Given the description of an element on the screen output the (x, y) to click on. 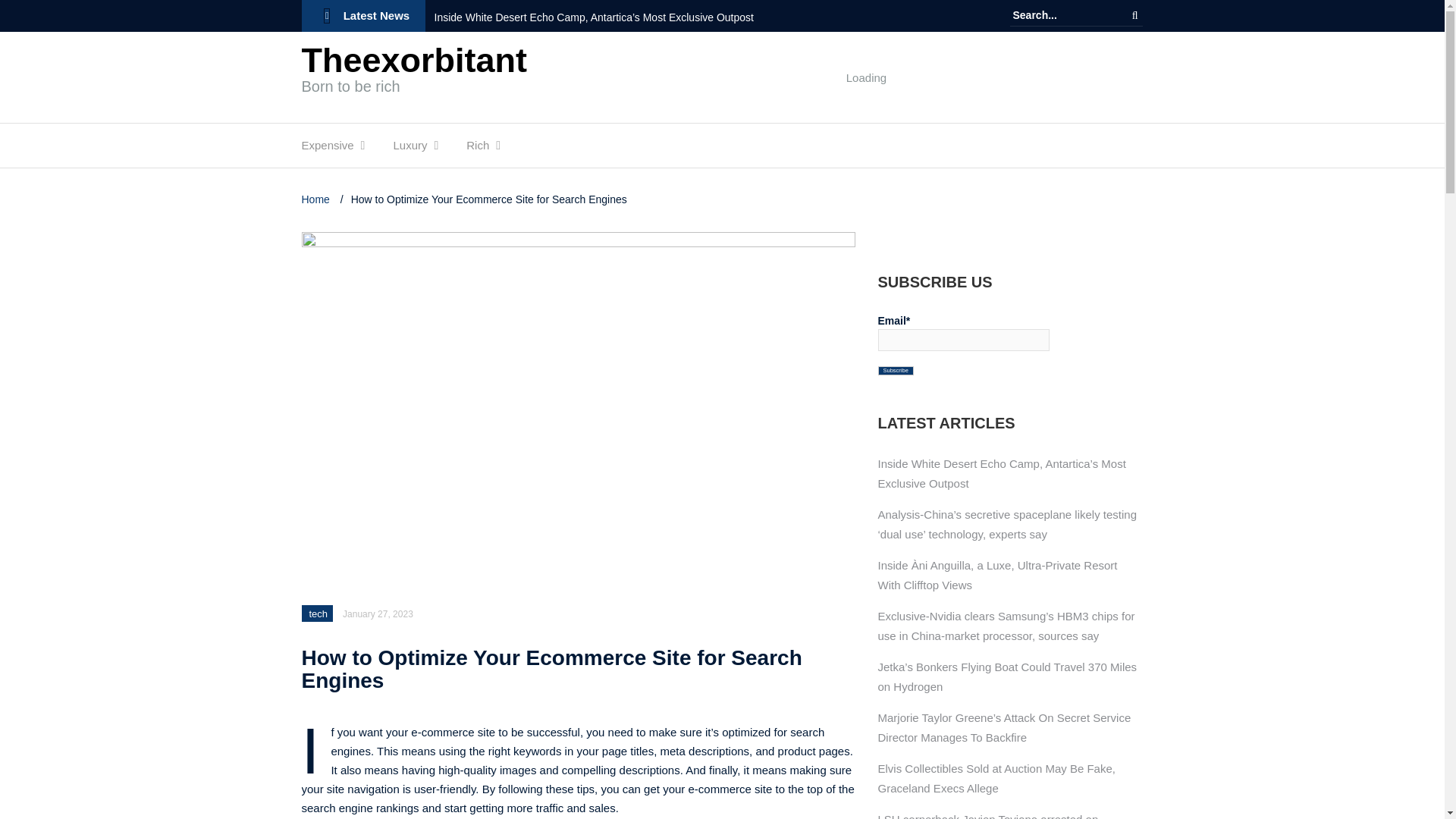
Rich (477, 148)
Expensive (327, 148)
Home (317, 199)
Theexorbitant (414, 59)
Luxury (409, 148)
tech (318, 613)
Subscribe (895, 370)
Search   (1134, 14)
